Given the description of an element on the screen output the (x, y) to click on. 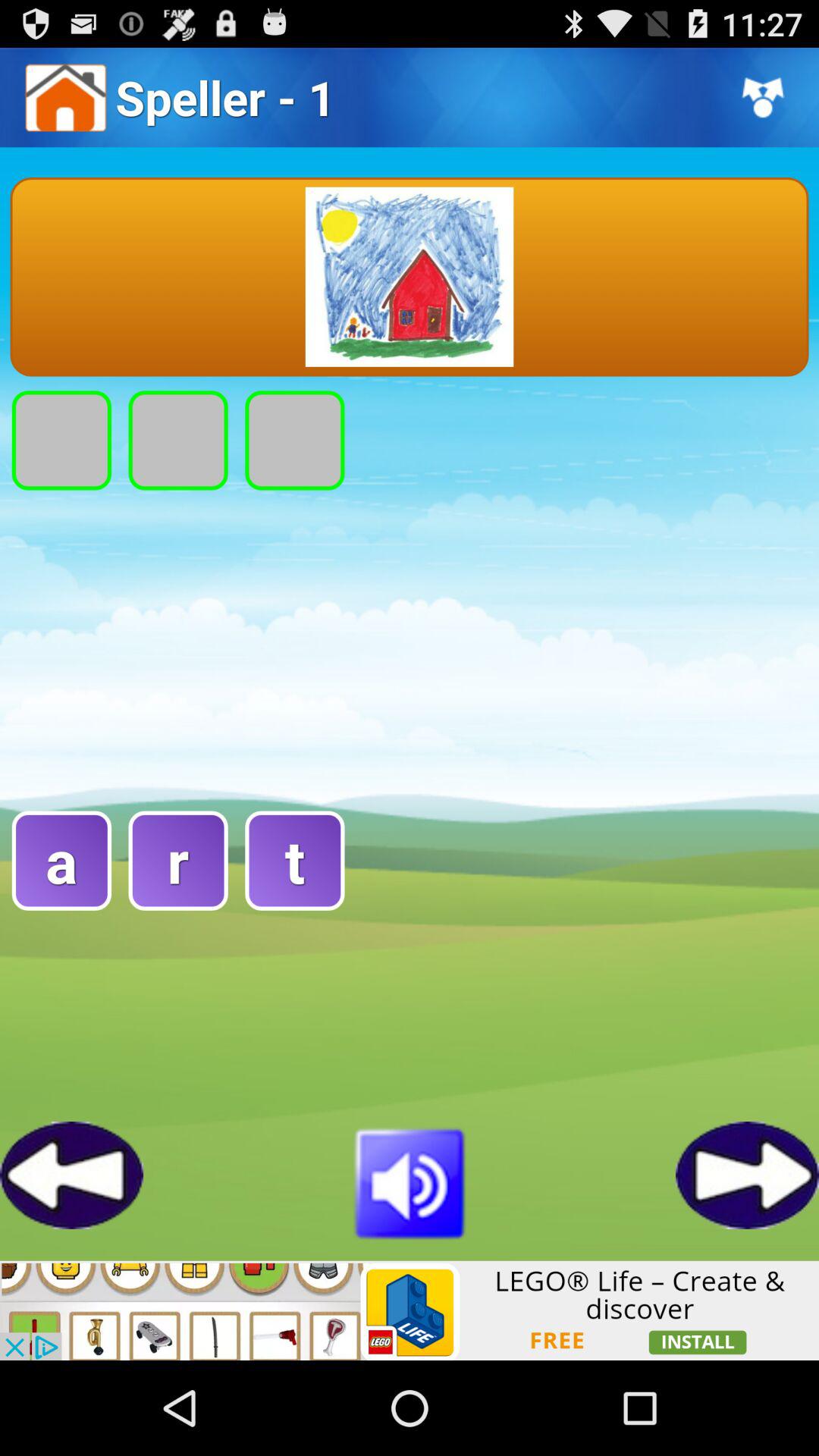
next (747, 1175)
